Given the description of an element on the screen output the (x, y) to click on. 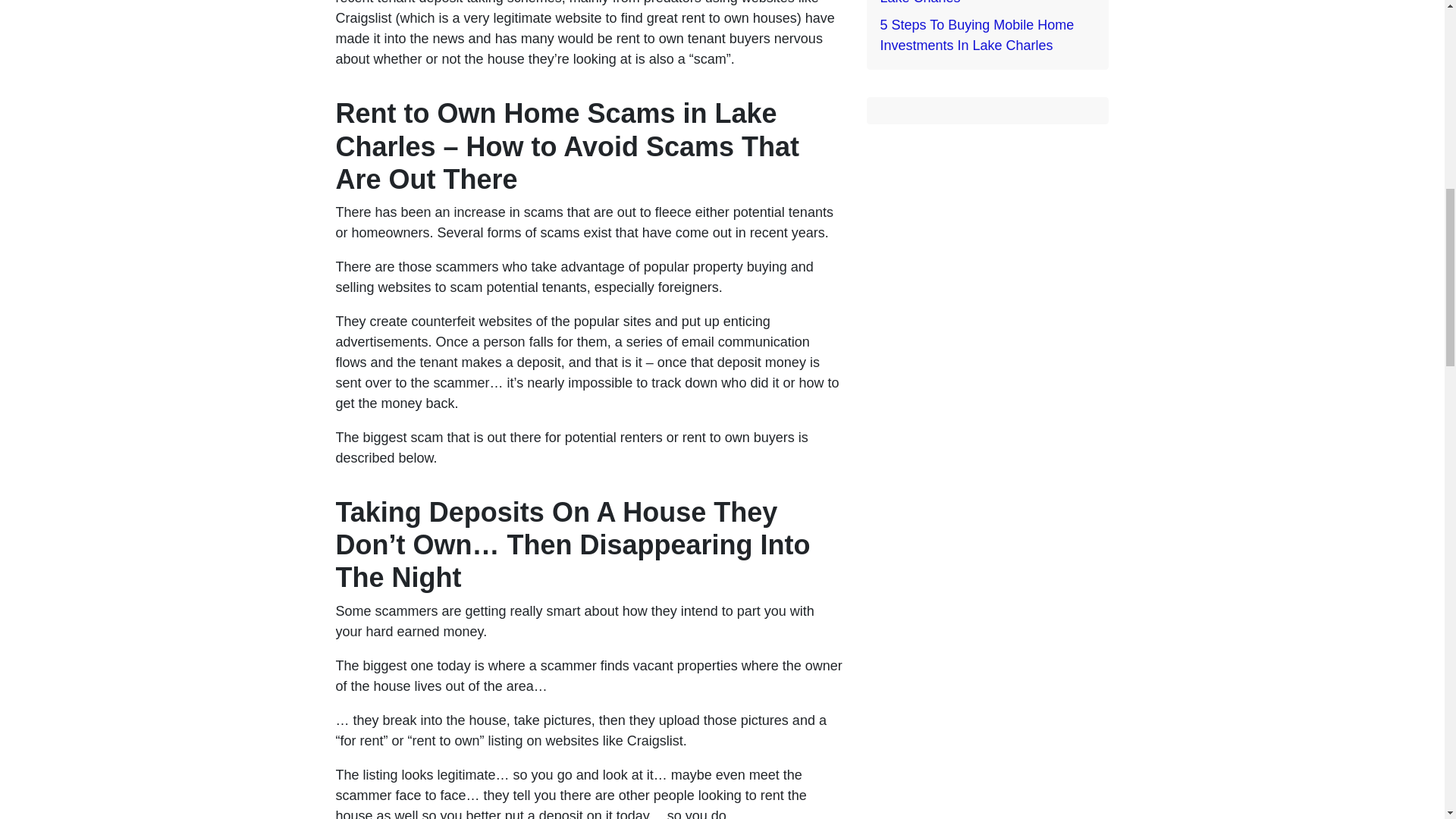
5 Steps To Buying Mobile Home Investments In Lake Charles (976, 35)
